Given the description of an element on the screen output the (x, y) to click on. 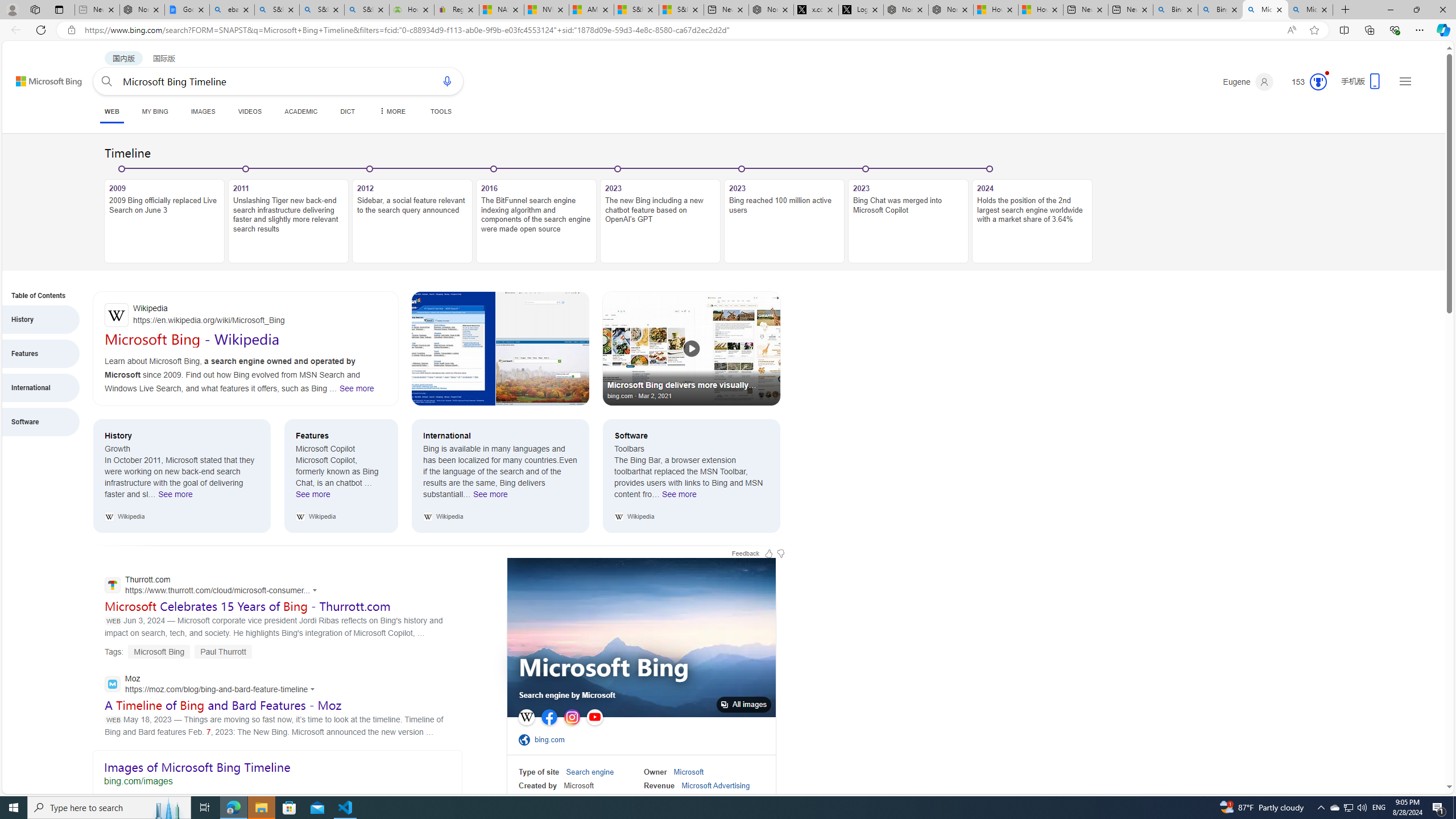
MY BING (154, 111)
See more International (490, 496)
WEB (111, 112)
MORE (391, 111)
See more History (175, 496)
WEB (111, 111)
Microsoft (688, 772)
S&P 500, Nasdaq end lower, weighed by Nvidia dip | Watch (681, 9)
Eugene (1248, 81)
Skip to content (35, 76)
